Given the description of an element on the screen output the (x, y) to click on. 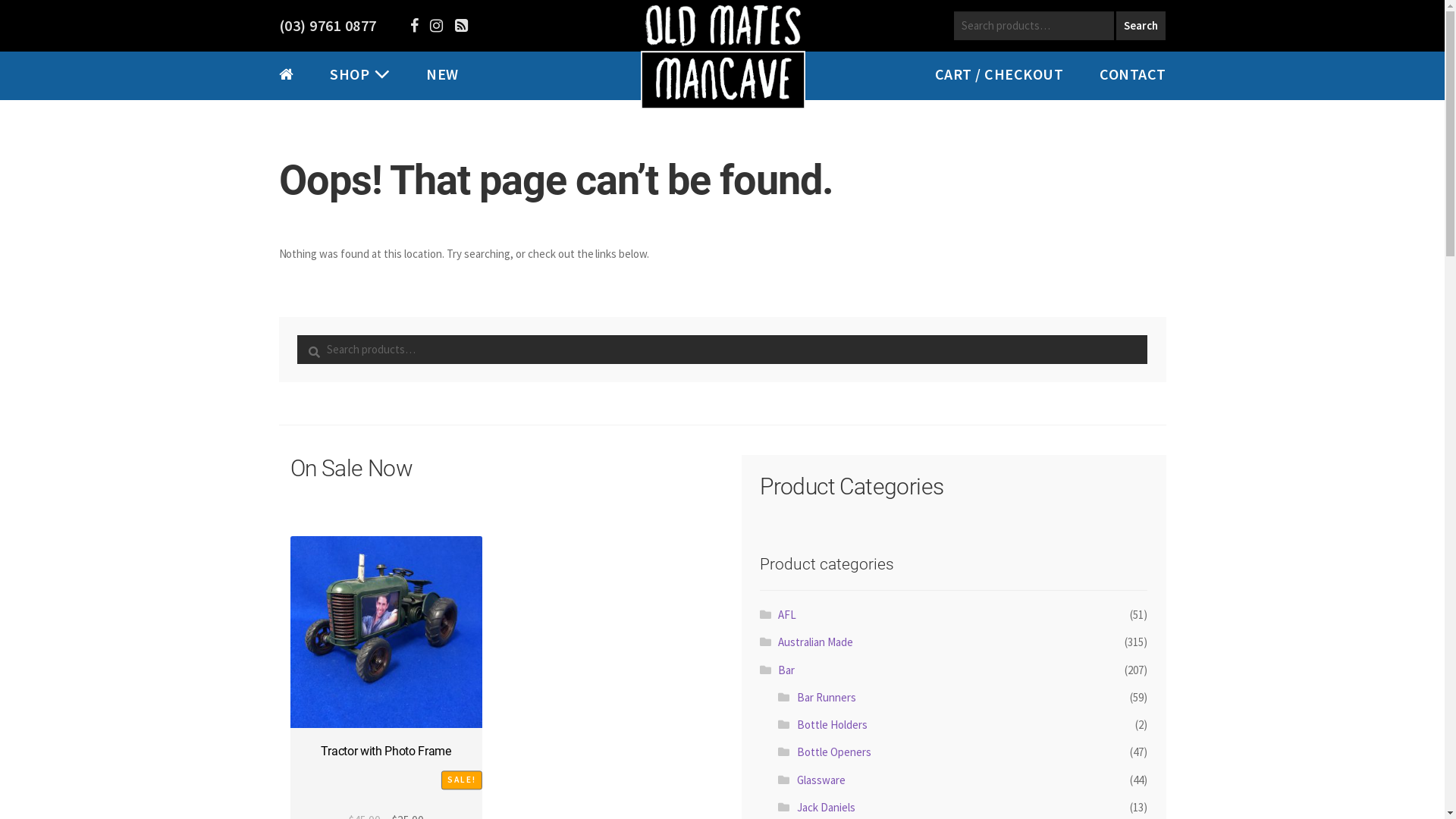
Search Element type: text (296, 334)
Bar Element type: text (786, 669)
Australian Made Element type: text (815, 641)
Bottle Holders Element type: text (832, 724)
Jack Daniels Element type: text (826, 807)
Bar Runners Element type: text (826, 697)
Glassware Element type: text (821, 778)
Bottle Openers Element type: text (834, 751)
CART / CHECKOUT Element type: text (998, 74)
SHOP Element type: text (349, 74)
CONTACT Element type: text (1132, 74)
Search Element type: text (1140, 25)
NEW Element type: text (442, 74)
AFL Element type: text (787, 614)
(03) 9761 0877 Element type: text (327, 24)
